Given the description of an element on the screen output the (x, y) to click on. 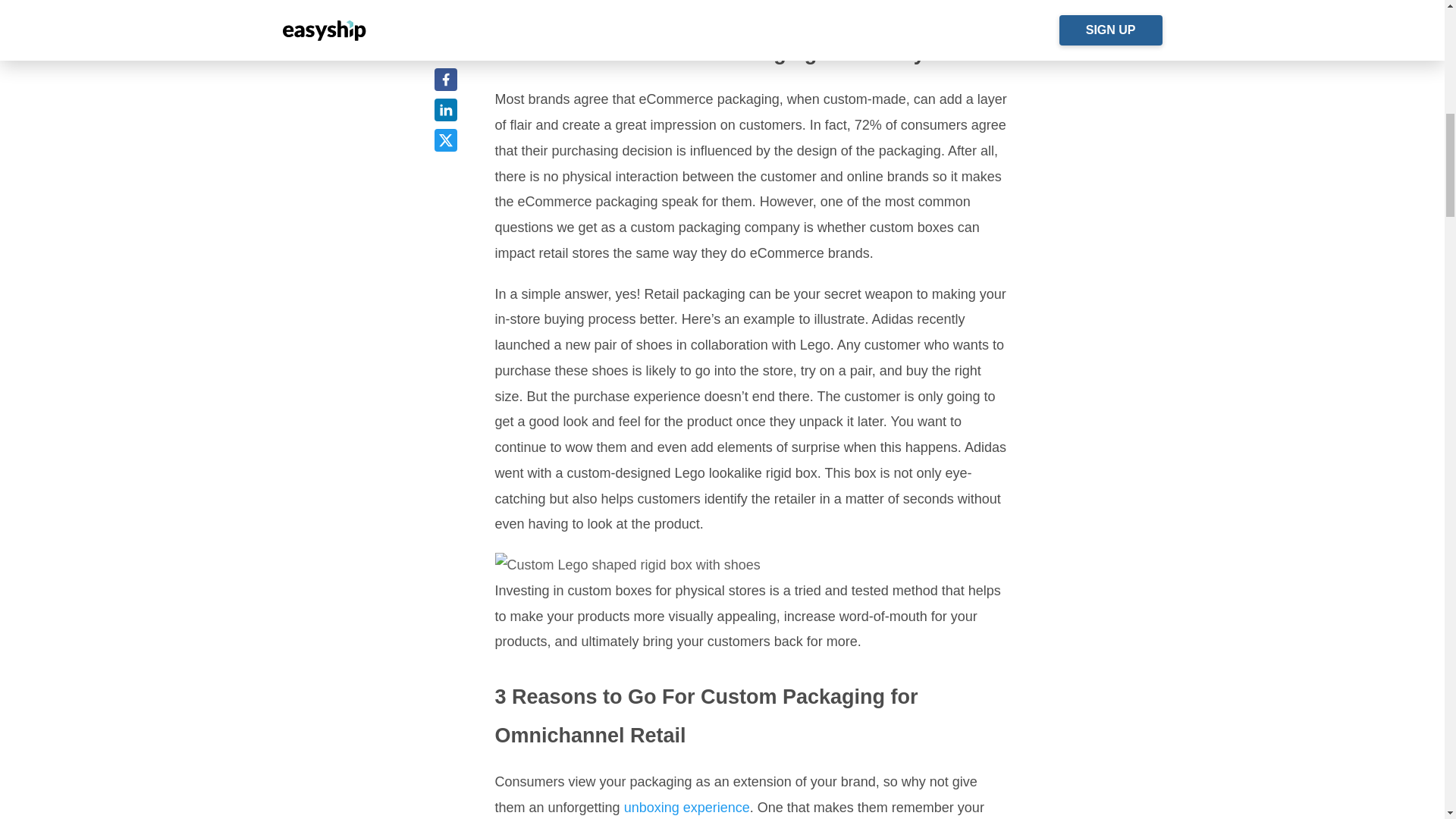
unboxing experience (686, 807)
